Given the description of an element on the screen output the (x, y) to click on. 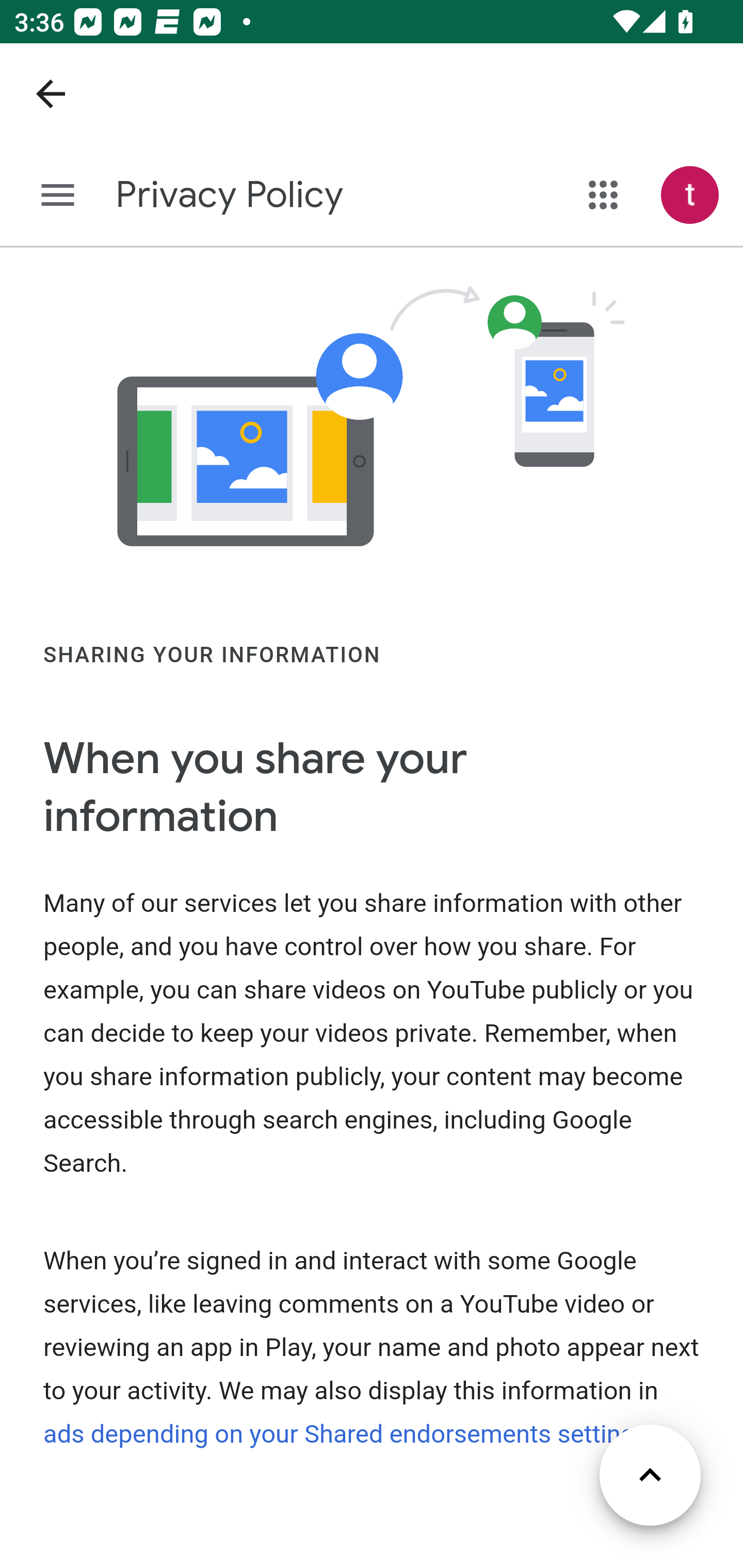
Navigate up (50, 93)
